Given the description of an element on the screen output the (x, y) to click on. 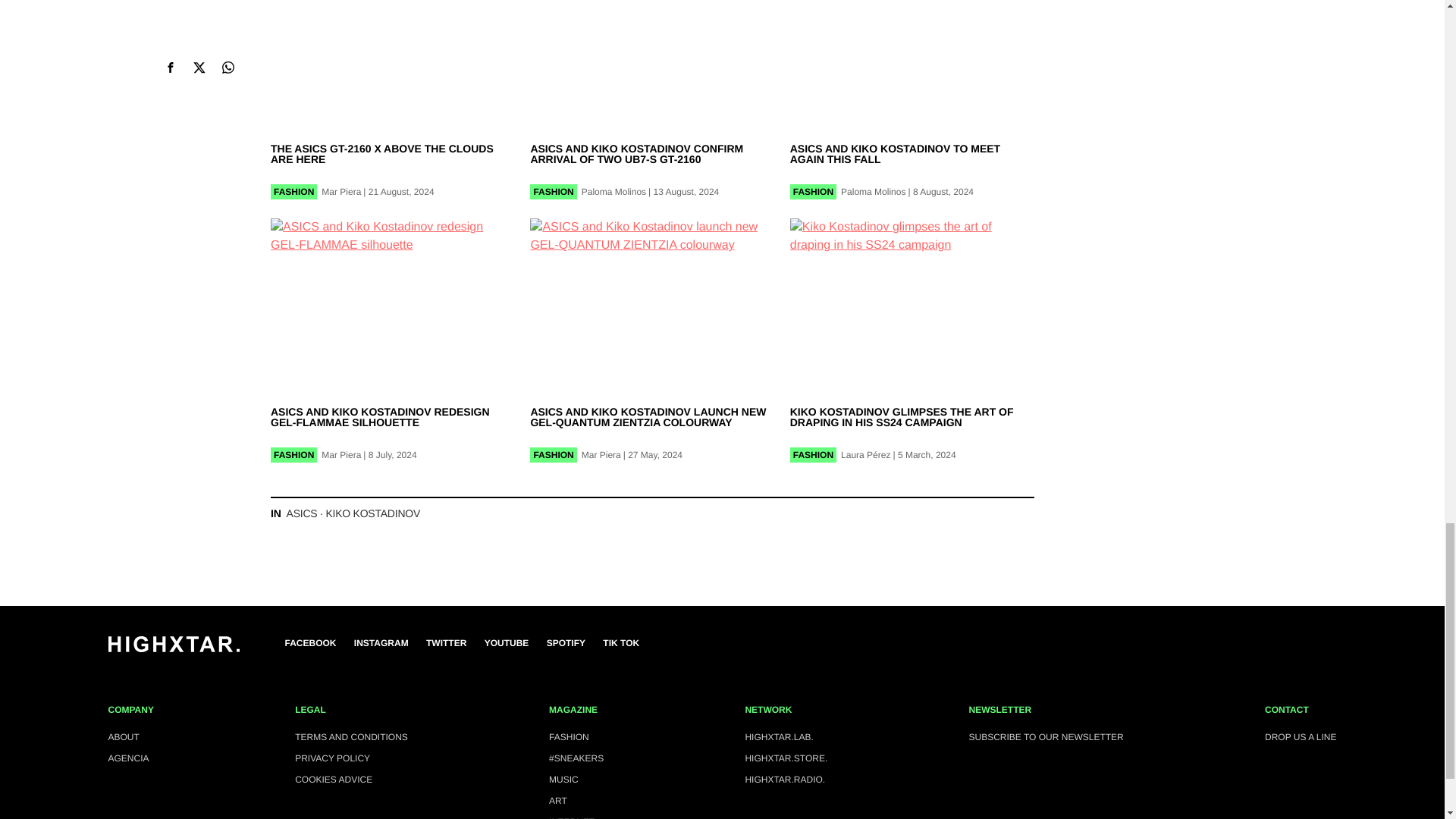
Twitter (446, 643)
Facebook (310, 643)
Spotify (565, 643)
Instagram (381, 643)
Enlace a Inicio (172, 648)
YouTube (507, 643)
